Given the description of an element on the screen output the (x, y) to click on. 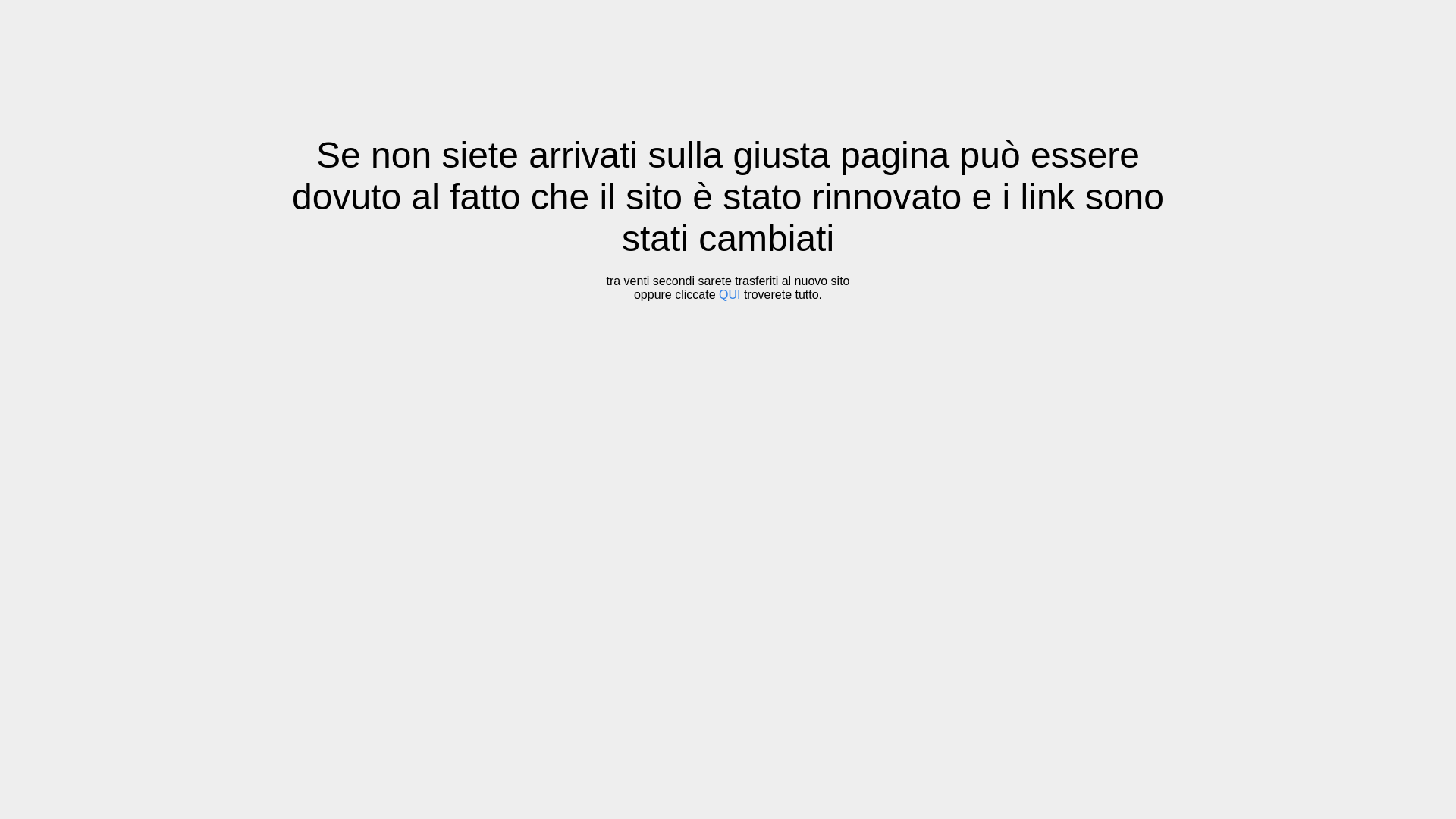
QUI Element type: text (729, 294)
